Given the description of an element on the screen output the (x, y) to click on. 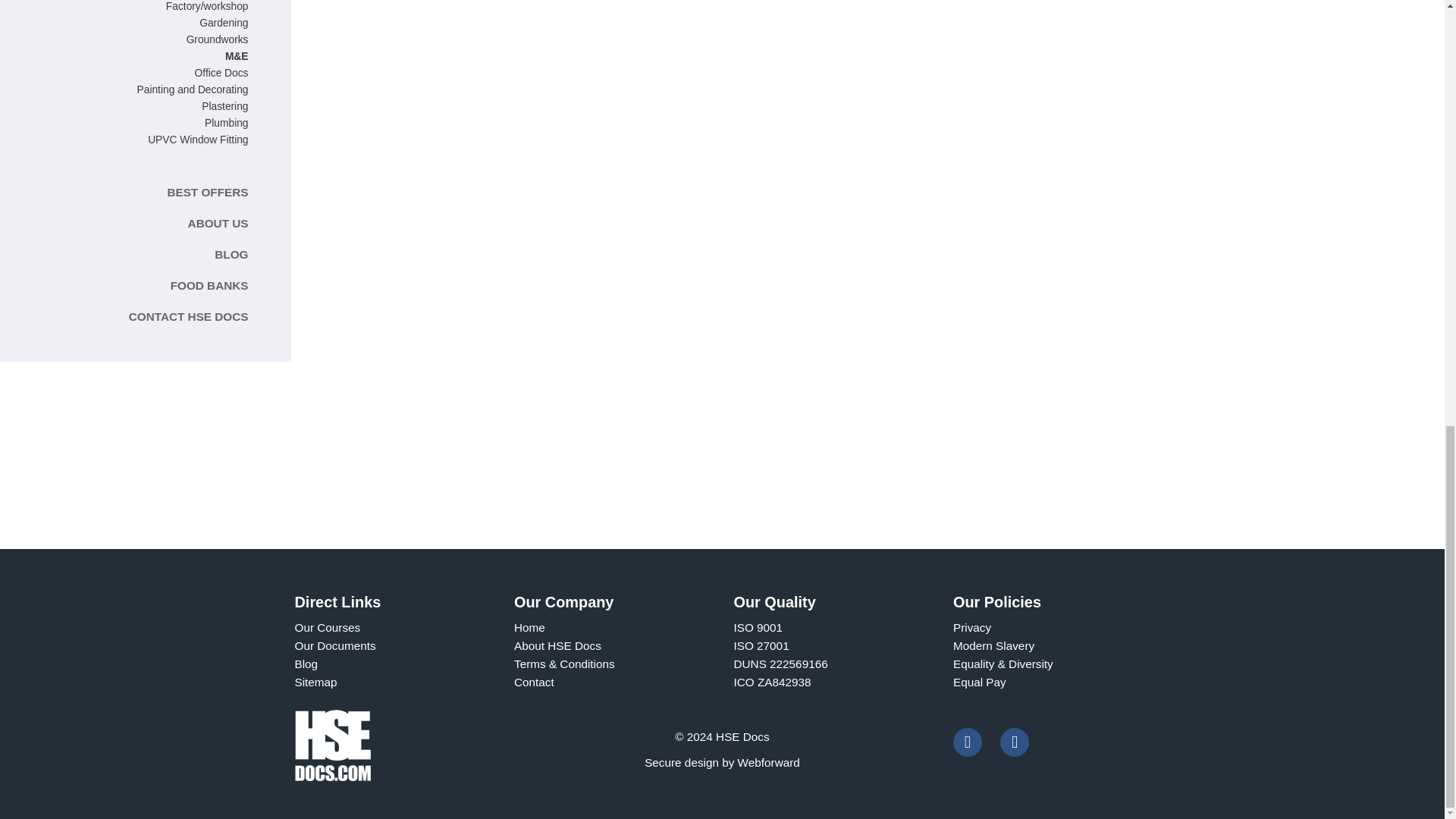
Award Winning Web Design Agency Webforward (768, 762)
